Given the description of an element on the screen output the (x, y) to click on. 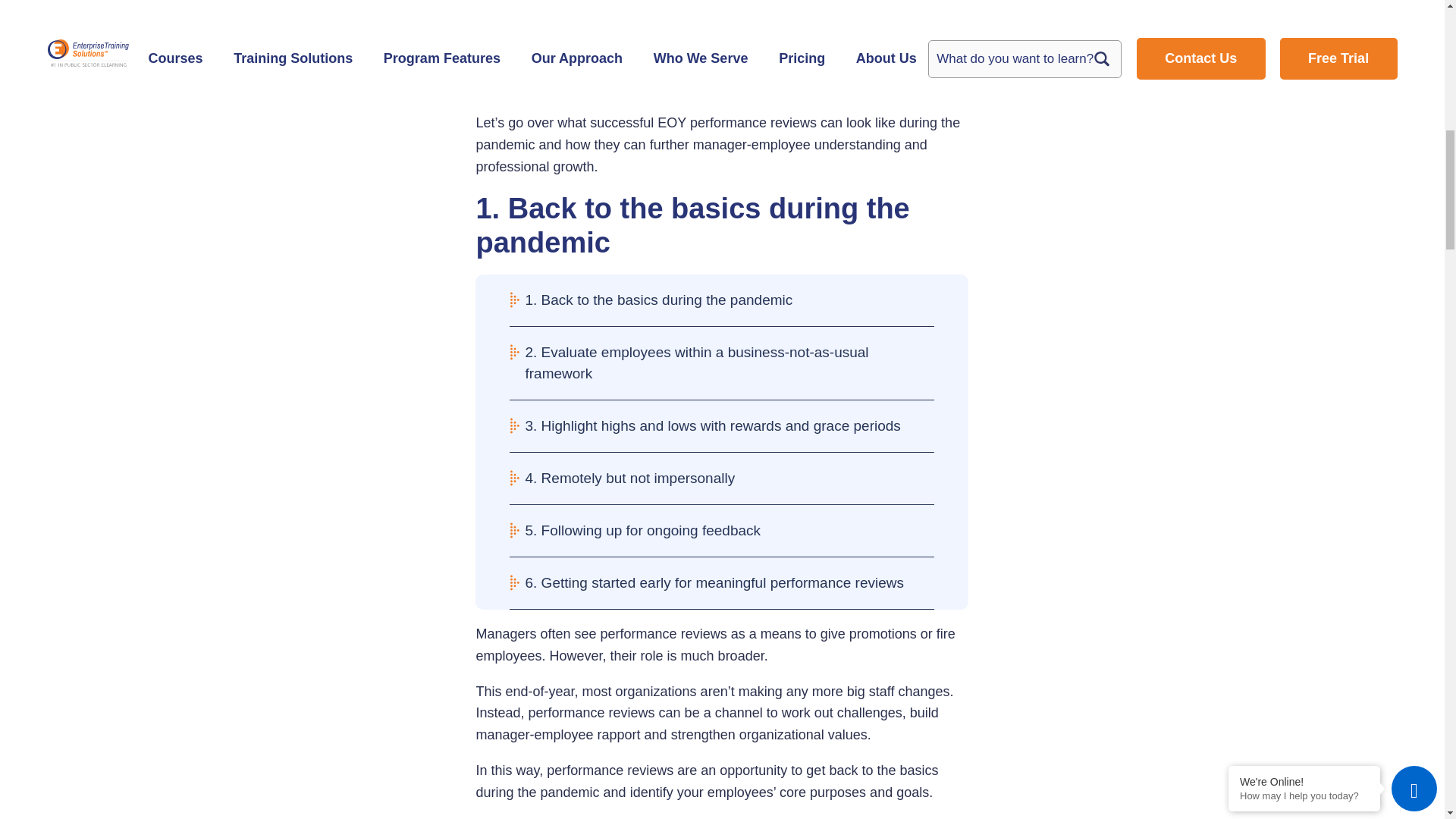
5. Following up for ongoing feedback (721, 531)
4. Remotely but not impersonally (721, 478)
3. Highlight highs and lows with rewards and grace periods (721, 426)
1. Back to the basics during the pandemic (721, 300)
6. Getting started early for meaningful performance reviews (721, 583)
